Given the description of an element on the screen output the (x, y) to click on. 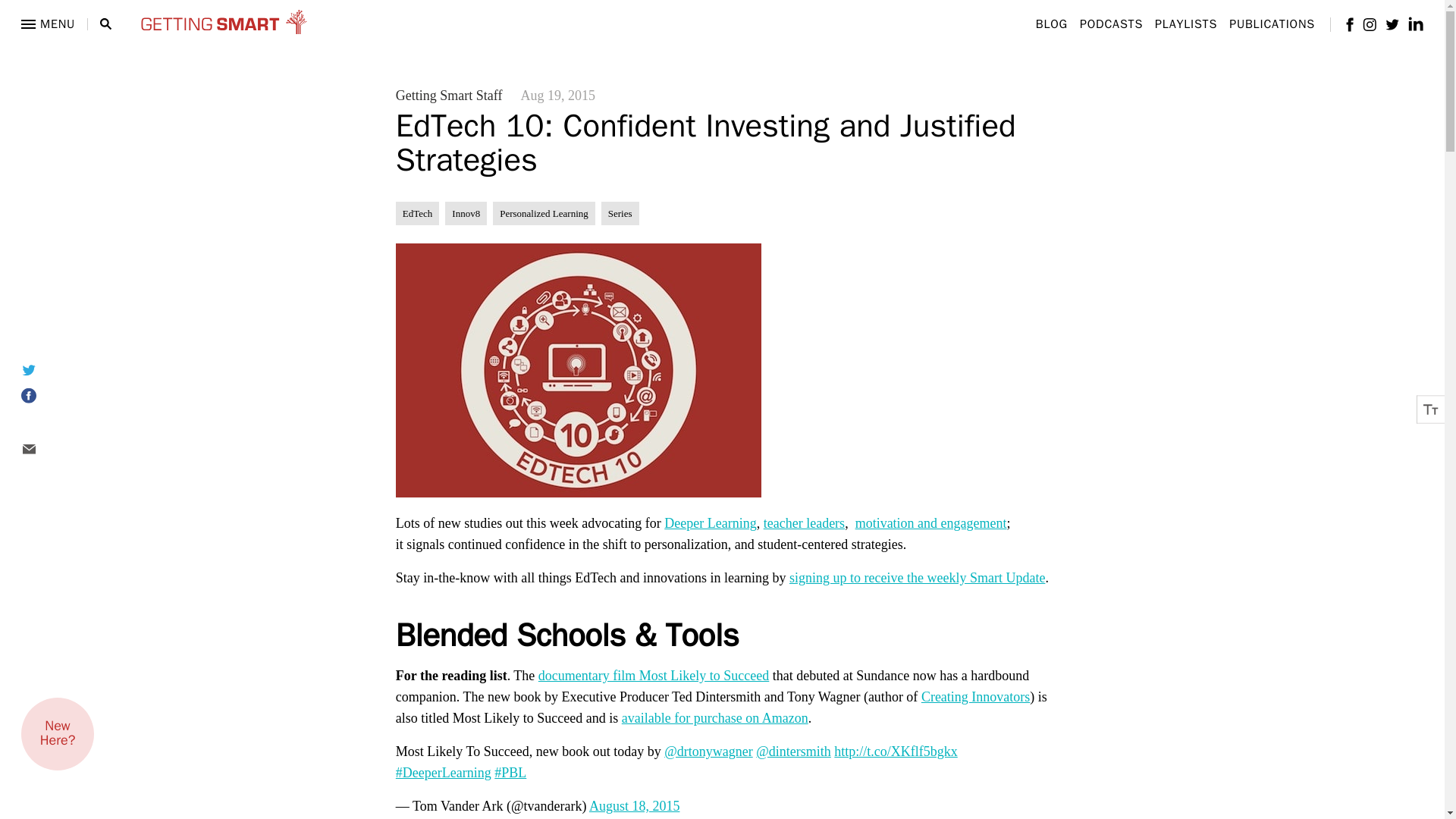
twitter (1392, 23)
Share on LinkedIn (47, 422)
PLAYLISTS (1185, 23)
linkedin (1415, 23)
BLOG (1051, 23)
PUBLICATIONS (1271, 23)
Share on Facebook (47, 395)
PODCASTS (1111, 23)
Share via Email (47, 449)
instagram (1368, 24)
